Given the description of an element on the screen output the (x, y) to click on. 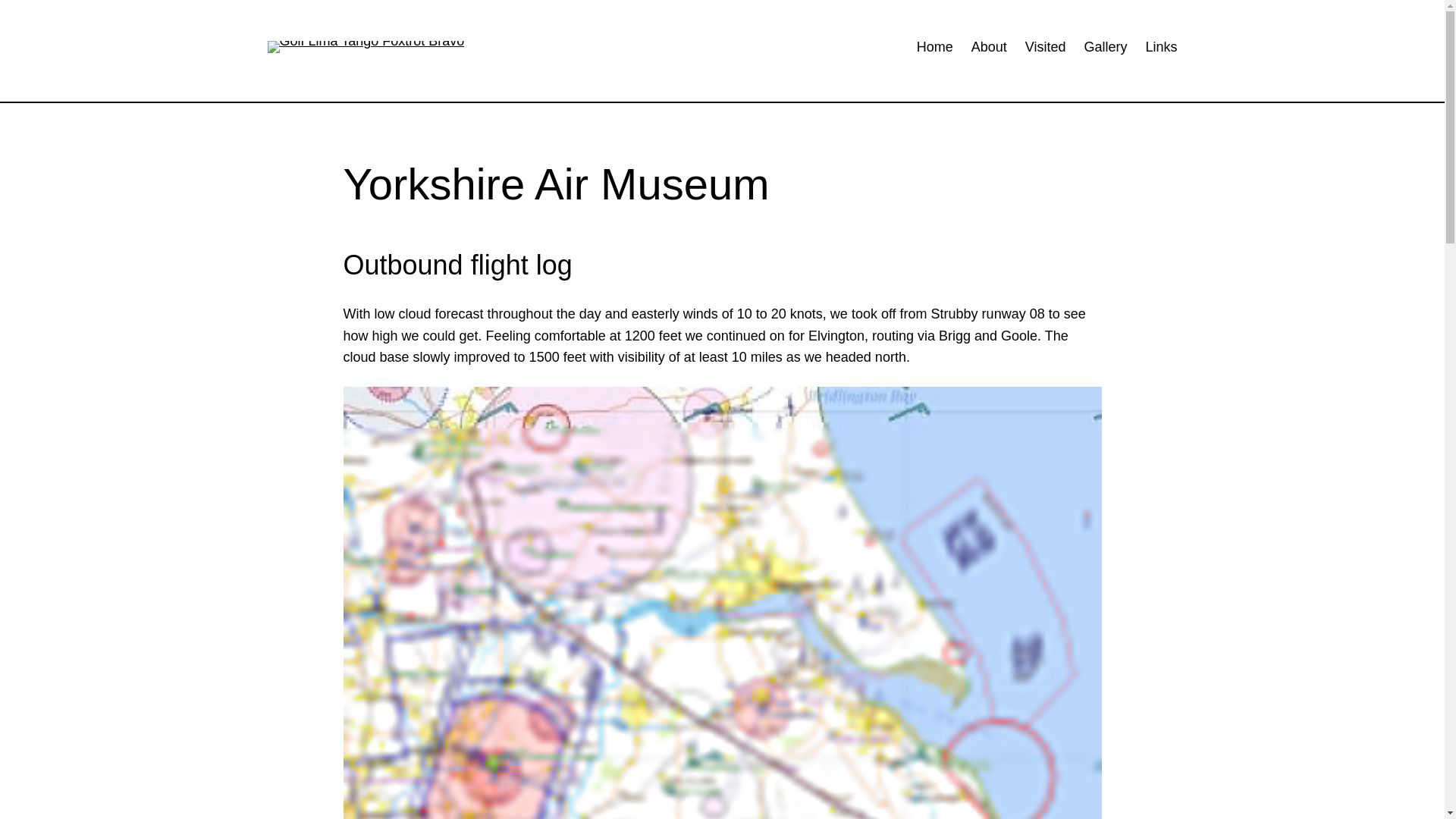
Visited (1045, 47)
Home (935, 47)
Links (1160, 47)
Gallery (1104, 47)
About (989, 47)
